Given the description of an element on the screen output the (x, y) to click on. 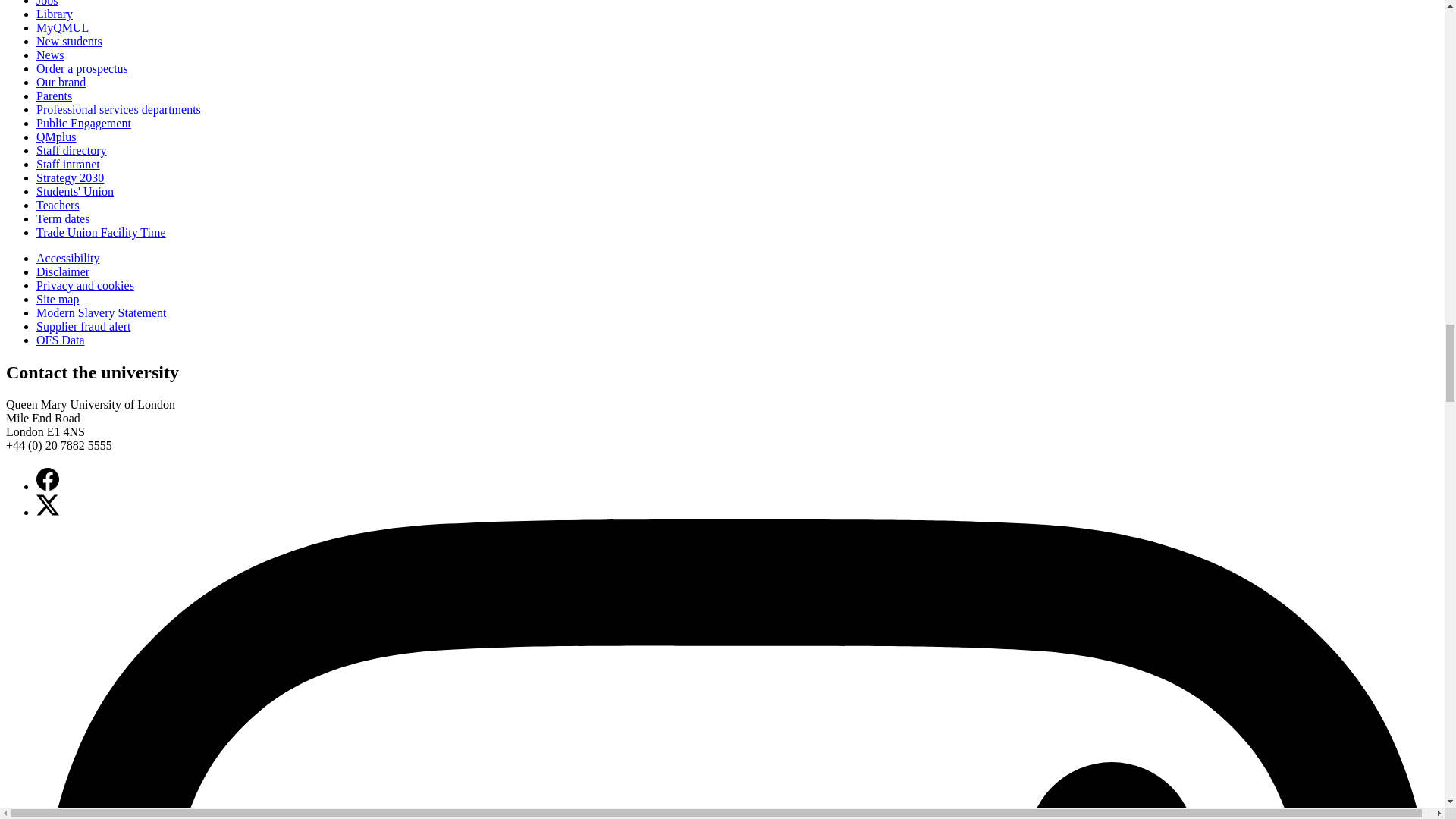
Twitter X (47, 504)
Facebook (47, 478)
